Given the description of an element on the screen output the (x, y) to click on. 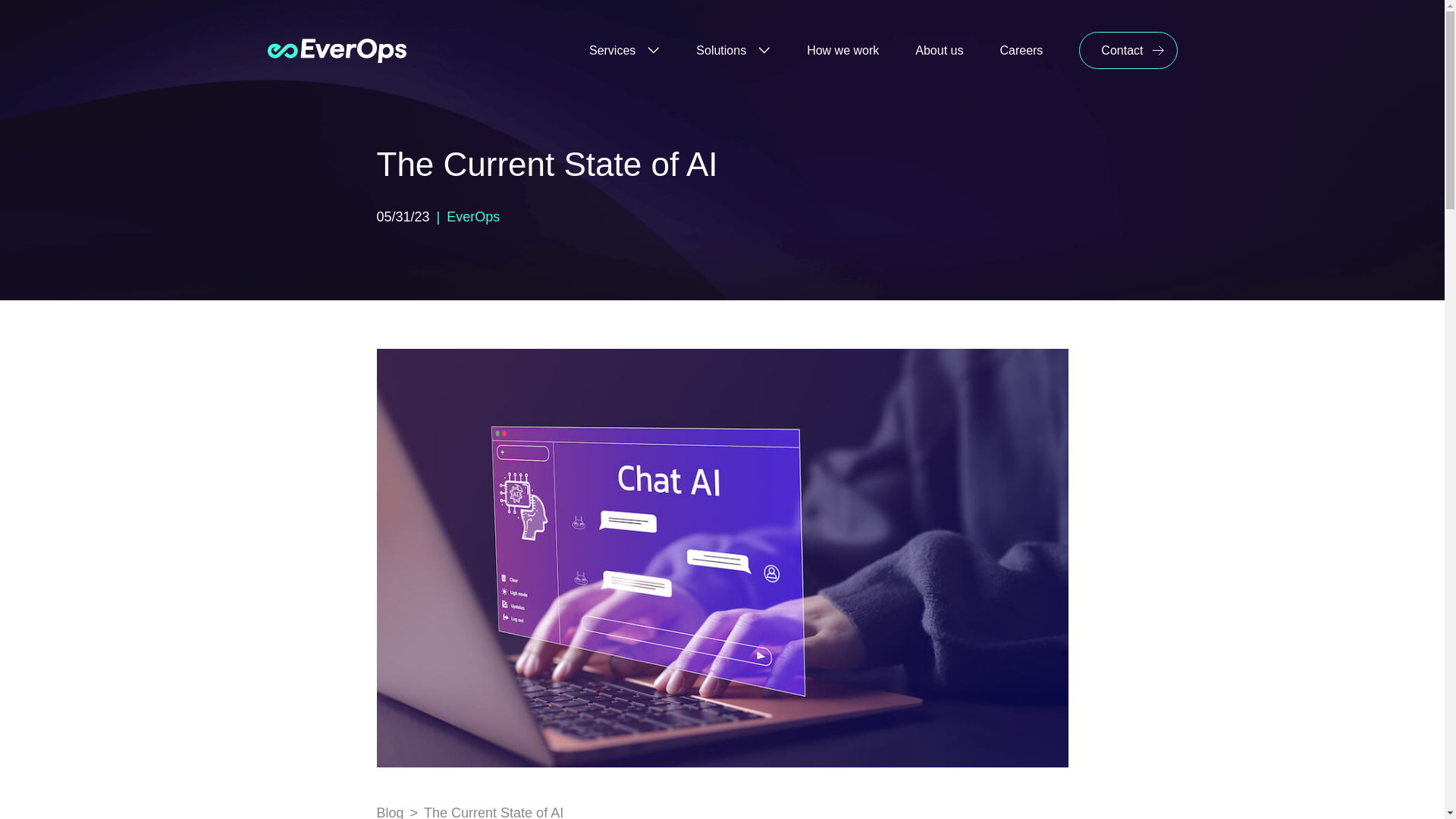
About us (938, 50)
Careers (1020, 50)
Contact (1127, 49)
EverOps (472, 216)
Link to Posts by EverOps (472, 216)
Blog (389, 812)
Solutions (732, 50)
How we work (842, 50)
Services (624, 50)
